Given the description of an element on the screen output the (x, y) to click on. 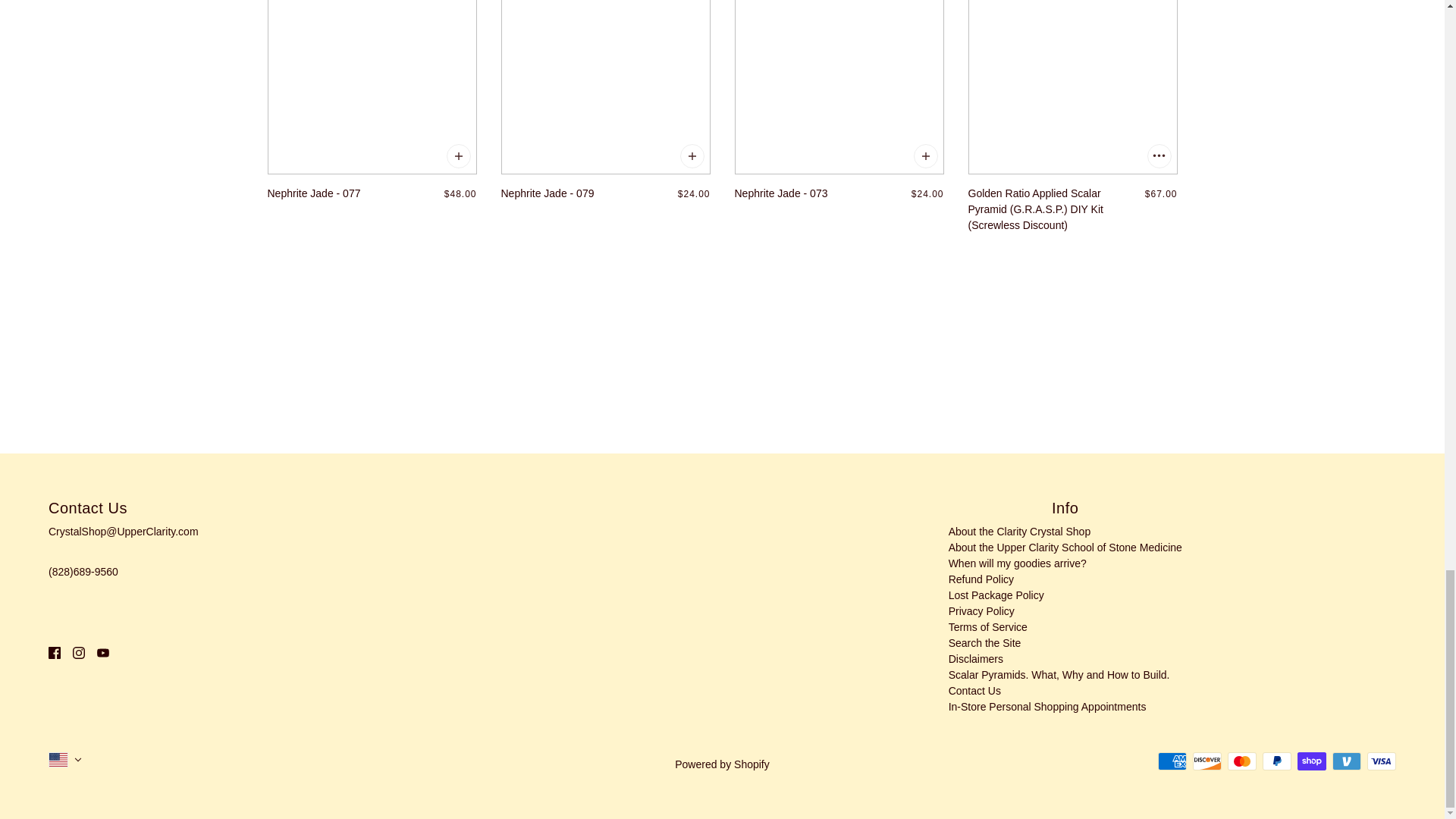
In-Store Personal Shopping Appointments (1048, 706)
Carousel testimonials reviews widget (721, 341)
Privacy Policy (981, 611)
When will my goodies arrive? (1017, 563)
Contact Us (975, 690)
Scalar Pyramids. What, Why and How to Build. (1059, 674)
About the Upper Clarity School of Stone Medicine (1065, 547)
Disclaimers (976, 658)
Refund Policy (981, 579)
Terms of Service (988, 626)
About the Clarity Crystal Shop (1019, 531)
Lost Package Policy (996, 594)
